Given the description of an element on the screen output the (x, y) to click on. 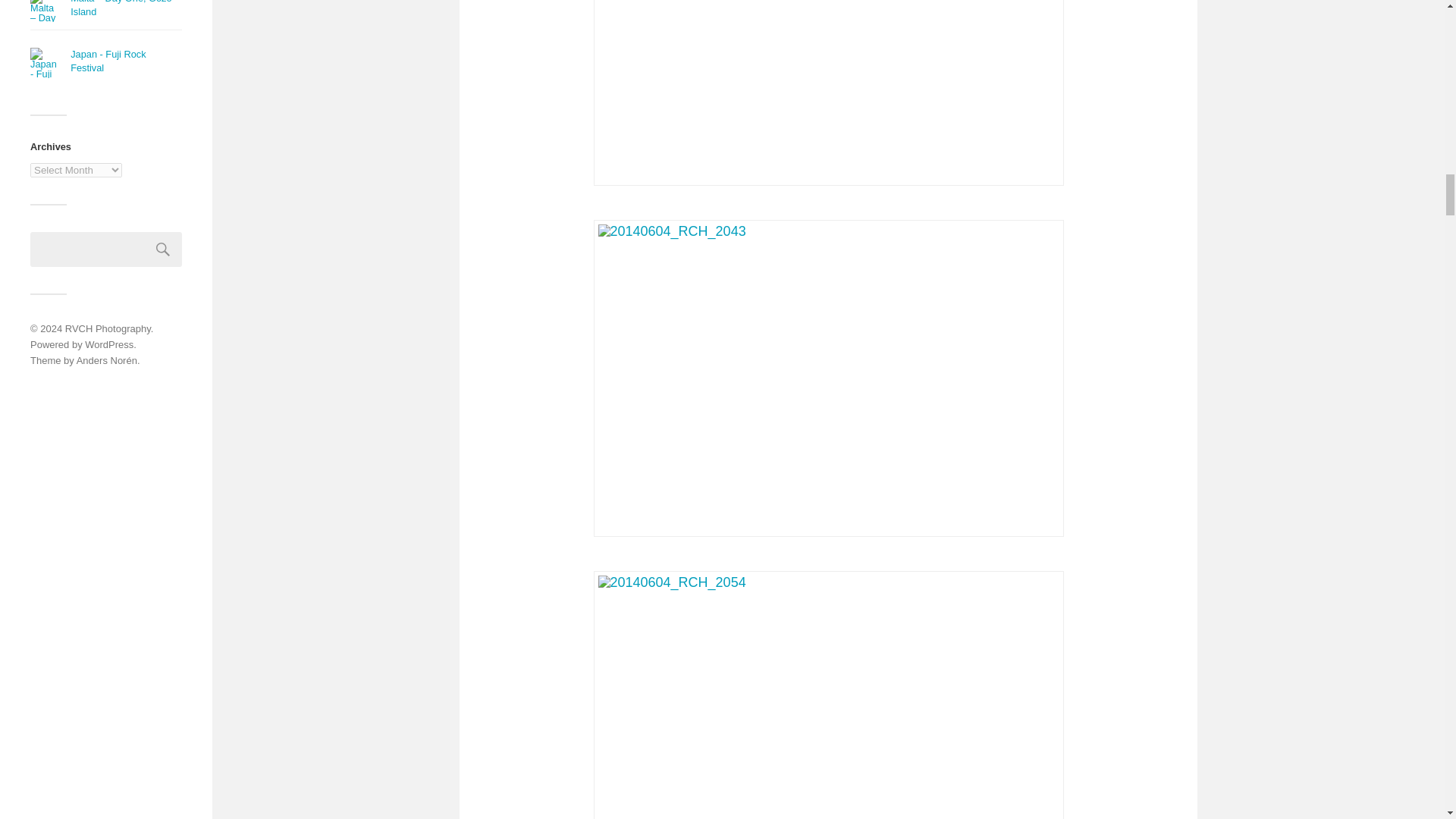
Search (163, 248)
